Given the description of an element on the screen output the (x, y) to click on. 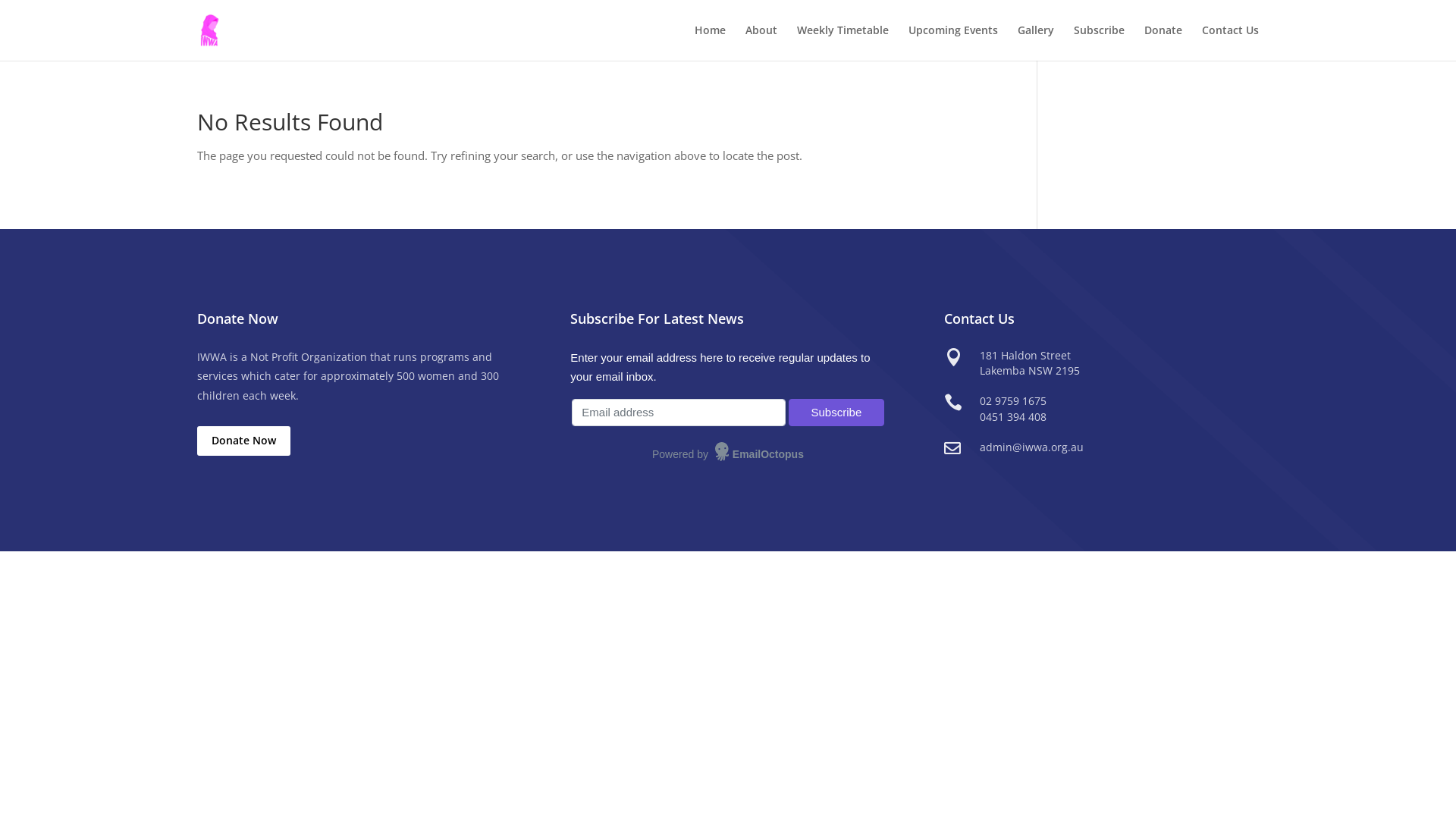
Subscribe Element type: text (1098, 42)
Contact Us Element type: text (1229, 42)
EmailOctopus Element type: text (759, 454)
Gallery Element type: text (1035, 42)
Subscribe Element type: text (836, 412)
Home Element type: text (709, 42)
02 9759 1675 Element type: text (1012, 400)
Donate Now Element type: text (243, 440)
About Element type: text (761, 42)
Weekly Timetable Element type: text (842, 42)
Upcoming Events Element type: text (952, 42)
0451 394 408 Element type: text (1012, 416)
Donate Element type: text (1163, 42)
